Given the description of an element on the screen output the (x, y) to click on. 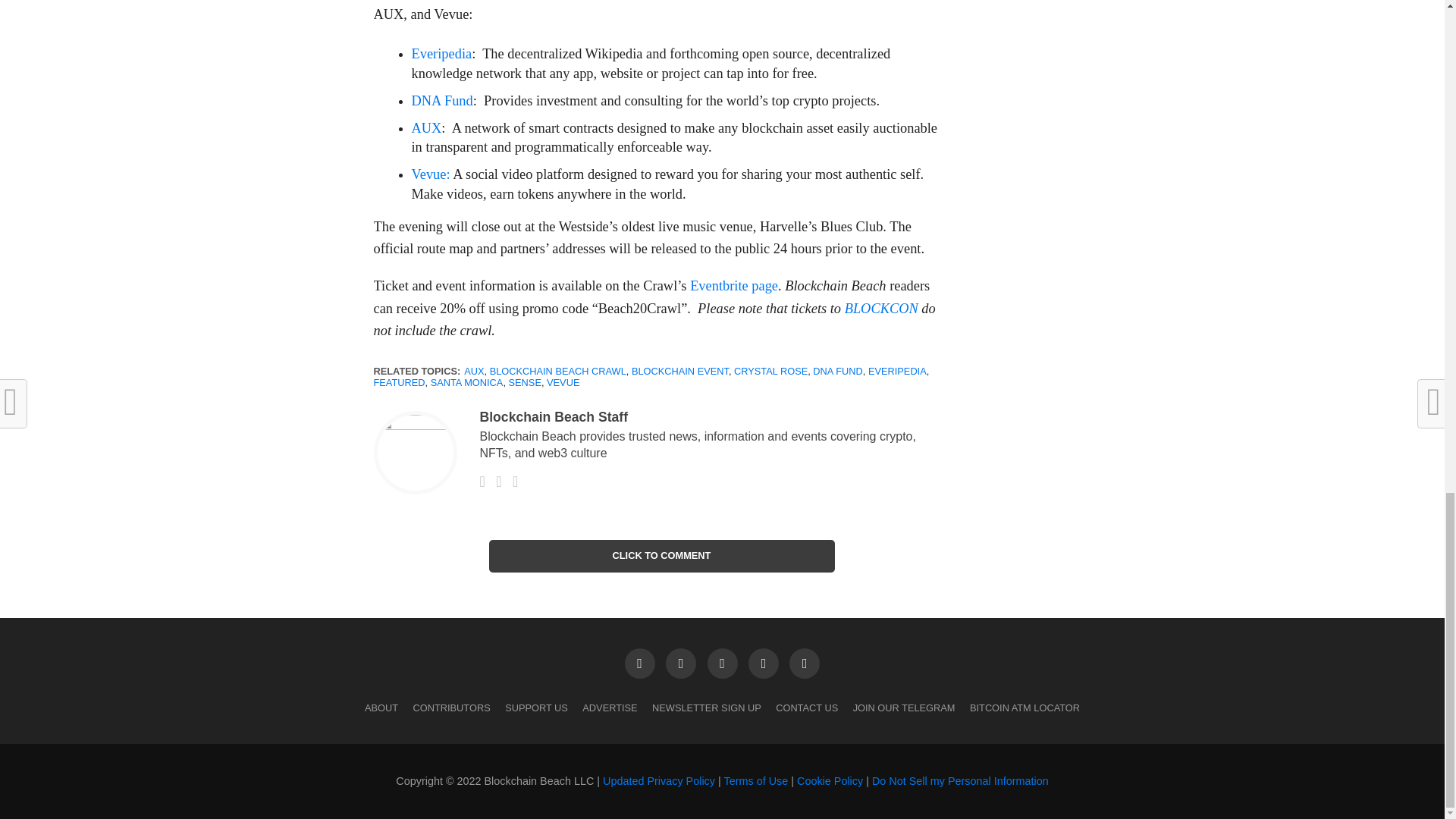
Posts by Blockchain Beach Staff (553, 417)
